Given the description of an element on the screen output the (x, y) to click on. 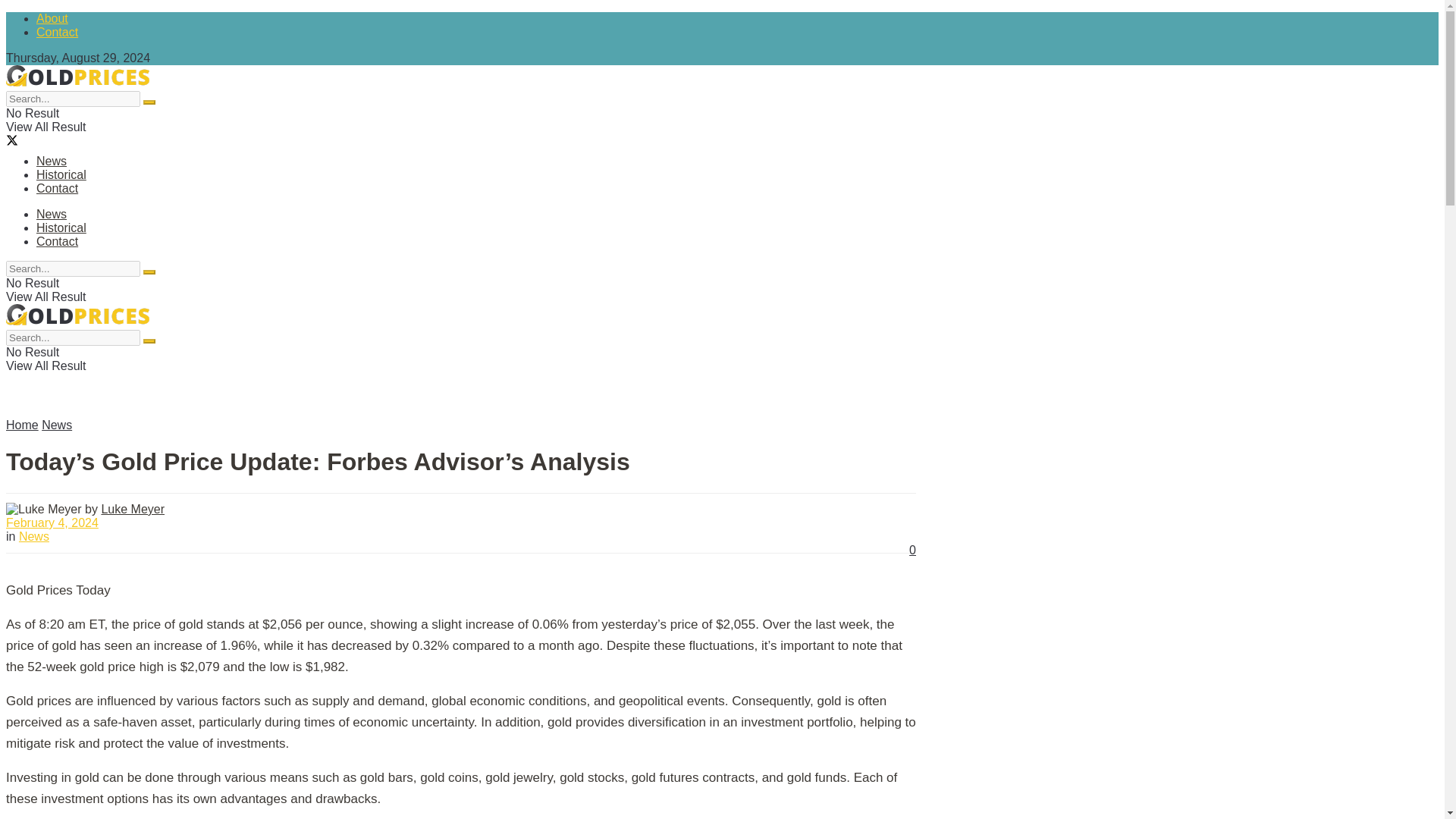
News (33, 535)
News (51, 214)
Luke Meyer (132, 508)
News (56, 424)
Historical (60, 174)
Contact (57, 241)
February 4, 2024 (52, 522)
Home (22, 424)
Historical (60, 227)
Contact (57, 31)
